Given the description of an element on the screen output the (x, y) to click on. 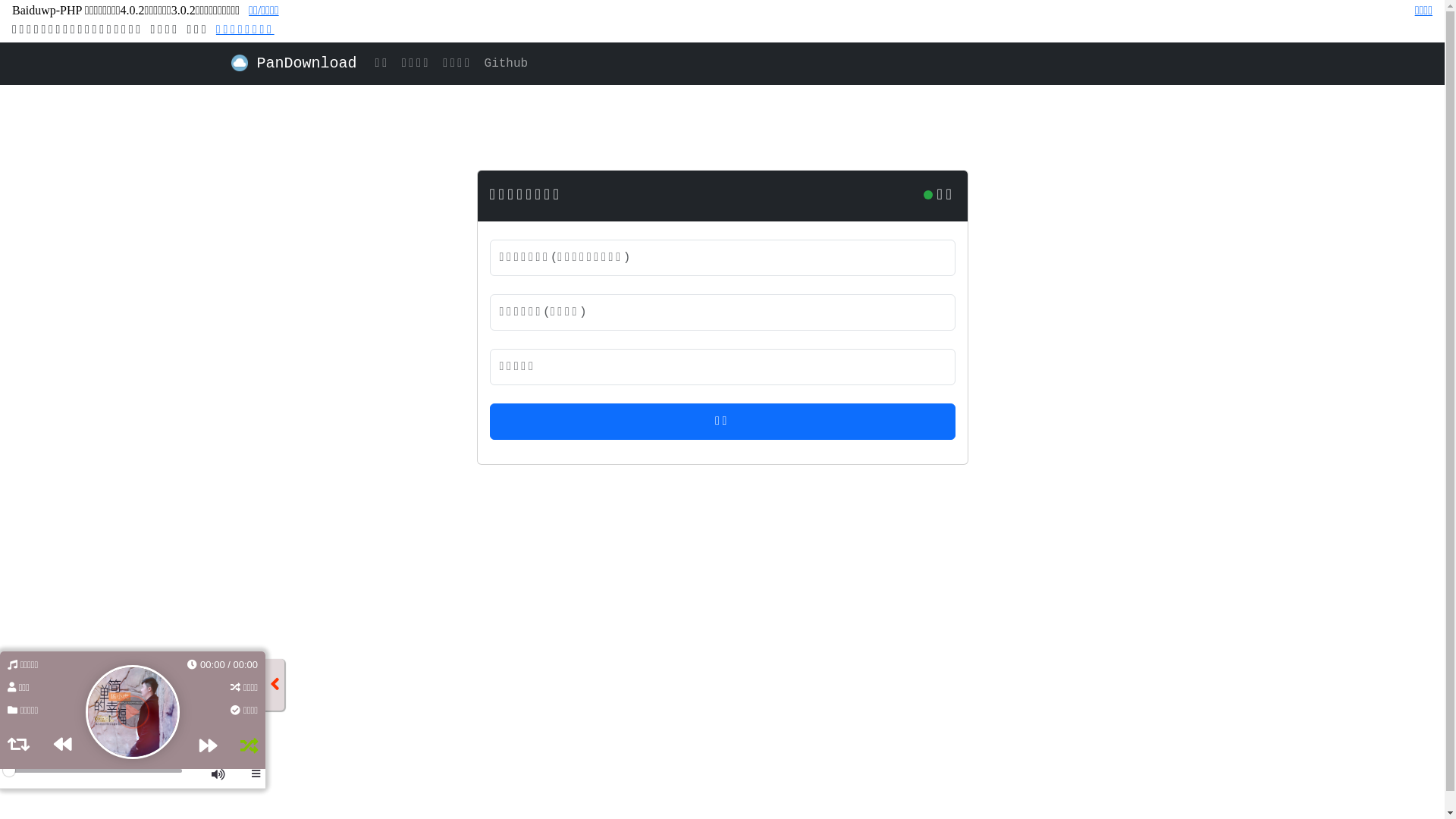
PanDownload Element type: text (293, 63)
Github Element type: text (506, 63)
